Given the description of an element on the screen output the (x, y) to click on. 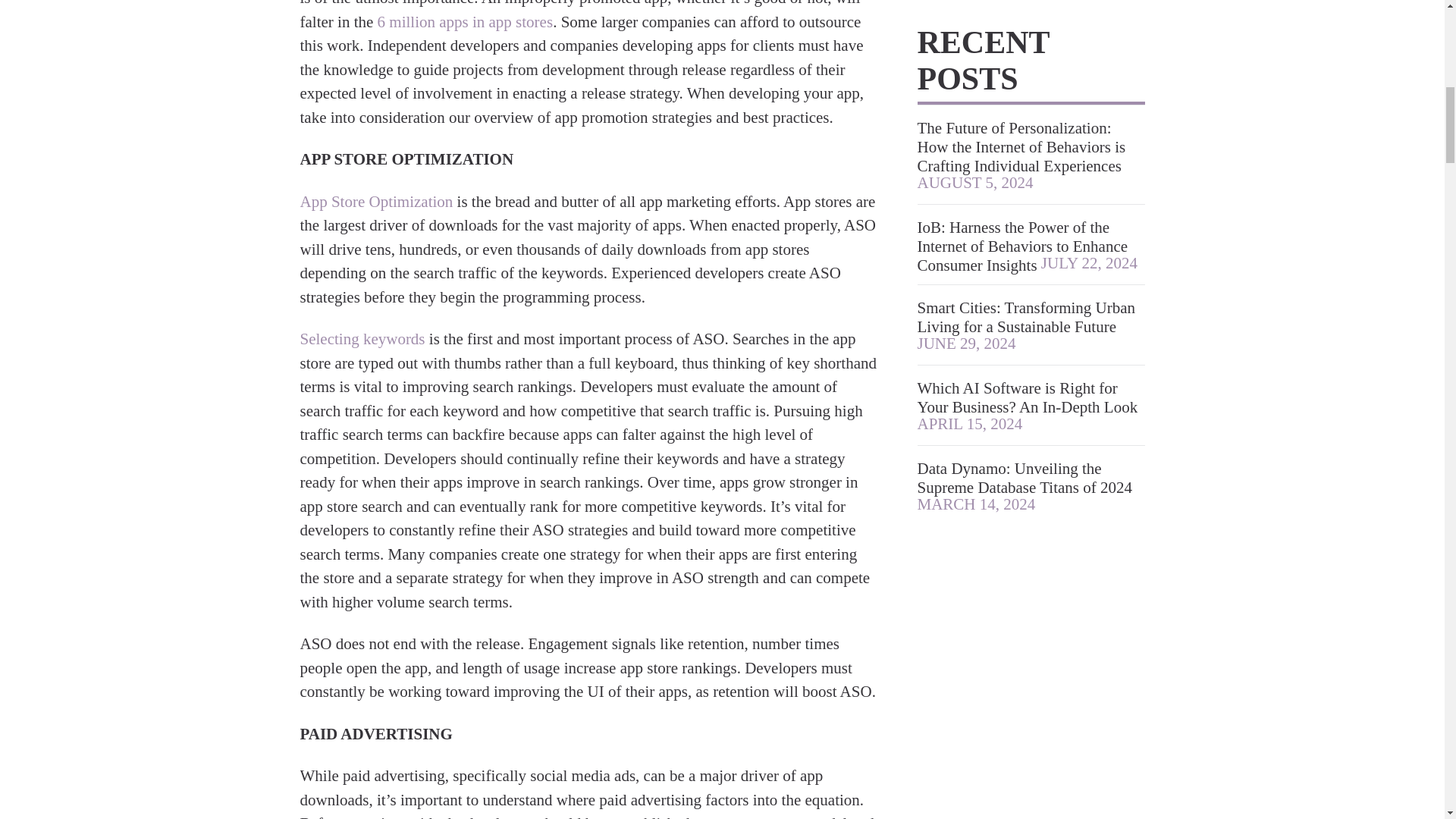
Mystic Media Blog: App Store Optimization (375, 201)
Mystic Media Blog: ASO Selecting Keywords (362, 339)
Staistica: Number of Apps Available in App Stores (465, 22)
